Given the description of an element on the screen output the (x, y) to click on. 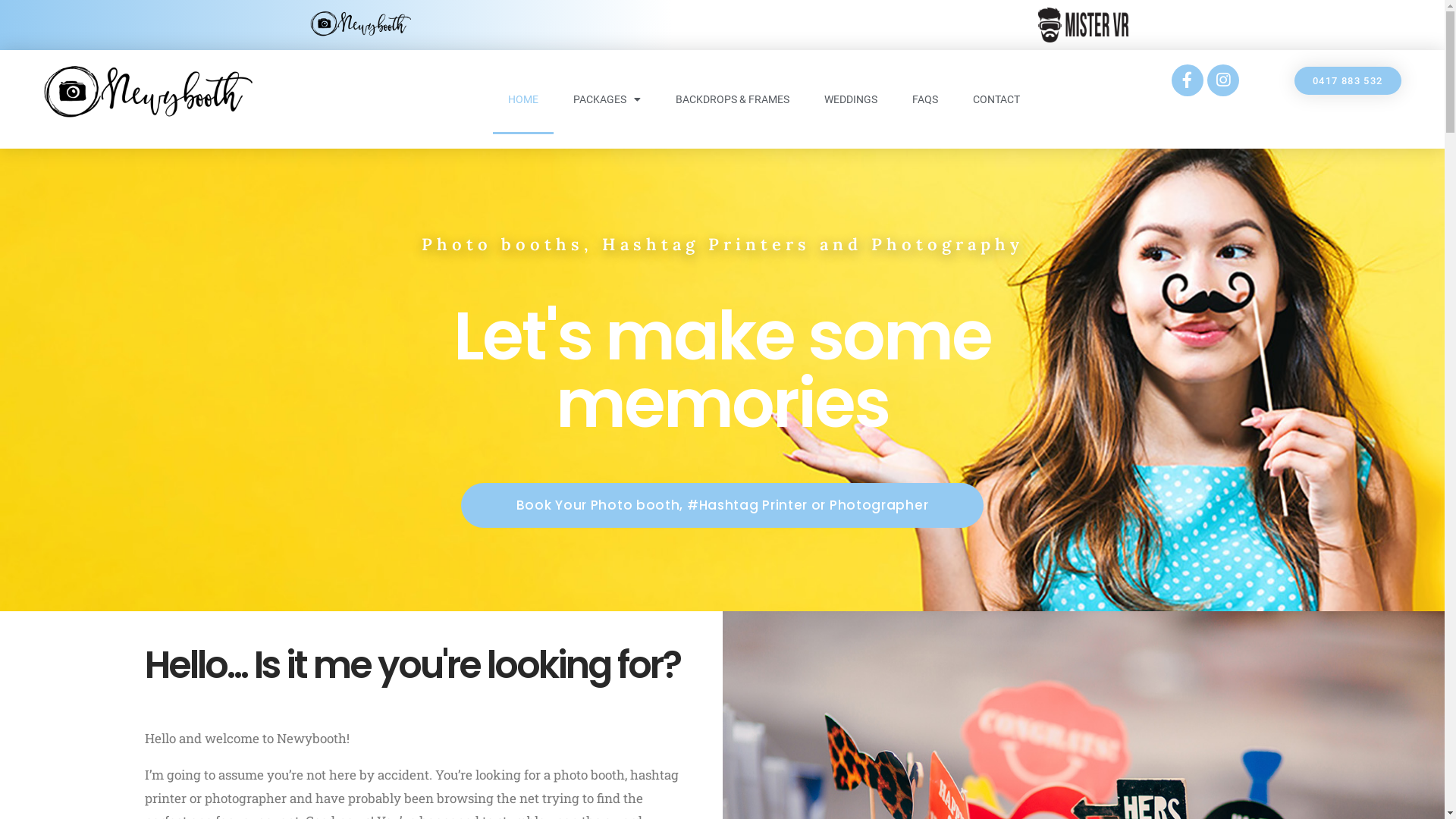
PACKAGES Element type: text (606, 99)
0417 883 532 Element type: text (1347, 80)
WEDDINGS Element type: text (850, 99)
Book Your Photo booth, #Hashtag Printer or Photographer Element type: text (722, 505)
FAQS Element type: text (925, 99)
CONTACT Element type: text (996, 99)
HOME Element type: text (522, 99)
BACKDROPS & FRAMES Element type: text (732, 99)
